Given the description of an element on the screen output the (x, y) to click on. 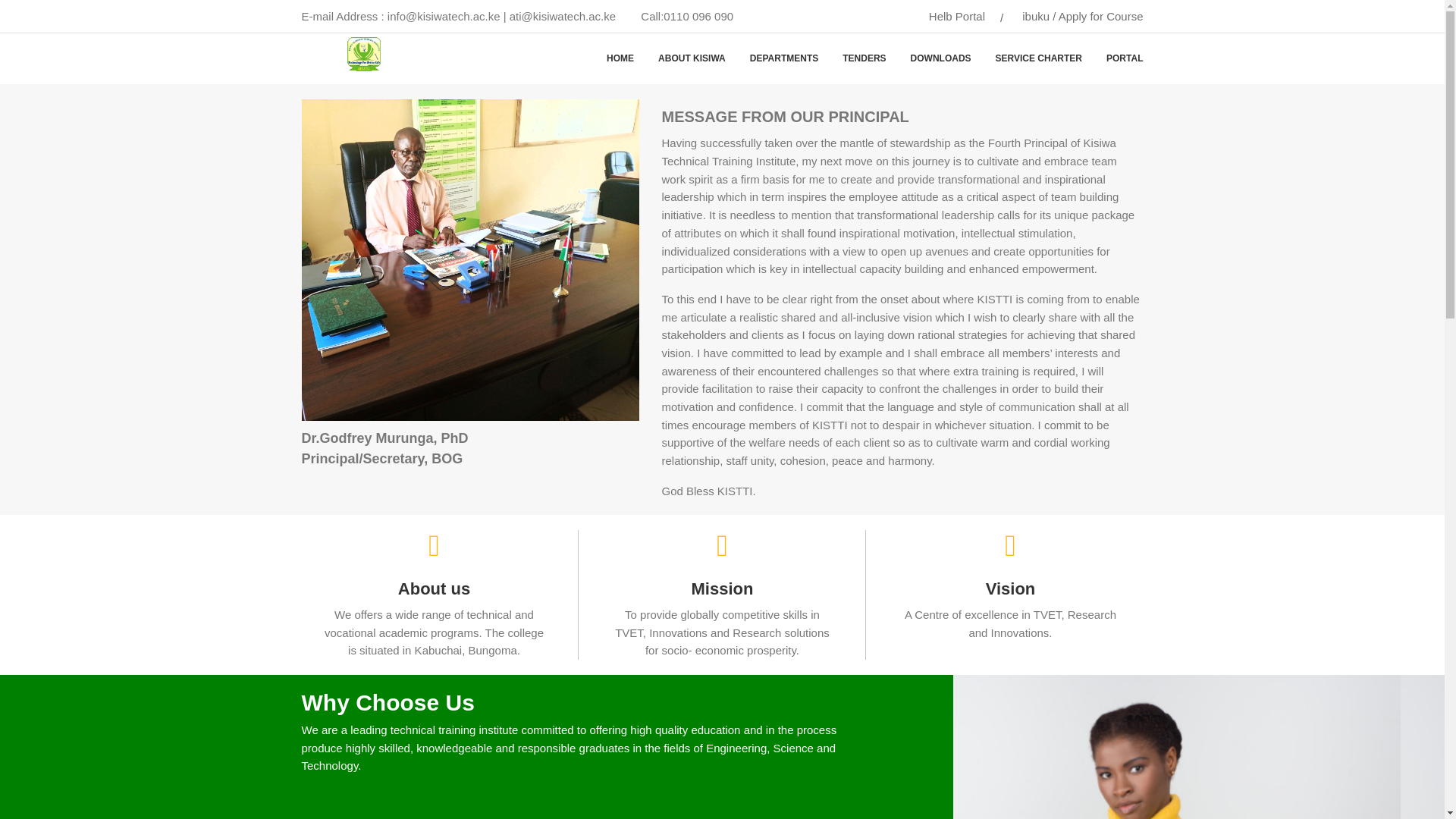
ABOUT KISIWA (692, 59)
Apply for Course (1100, 15)
SERVICE CHARTER (1039, 59)
TENDERS (863, 59)
HOME (620, 59)
Helb Portal (956, 15)
DEPARTMENTS (783, 59)
PORTAL (1118, 59)
DOWNLOADS (941, 59)
